Given the description of an element on the screen output the (x, y) to click on. 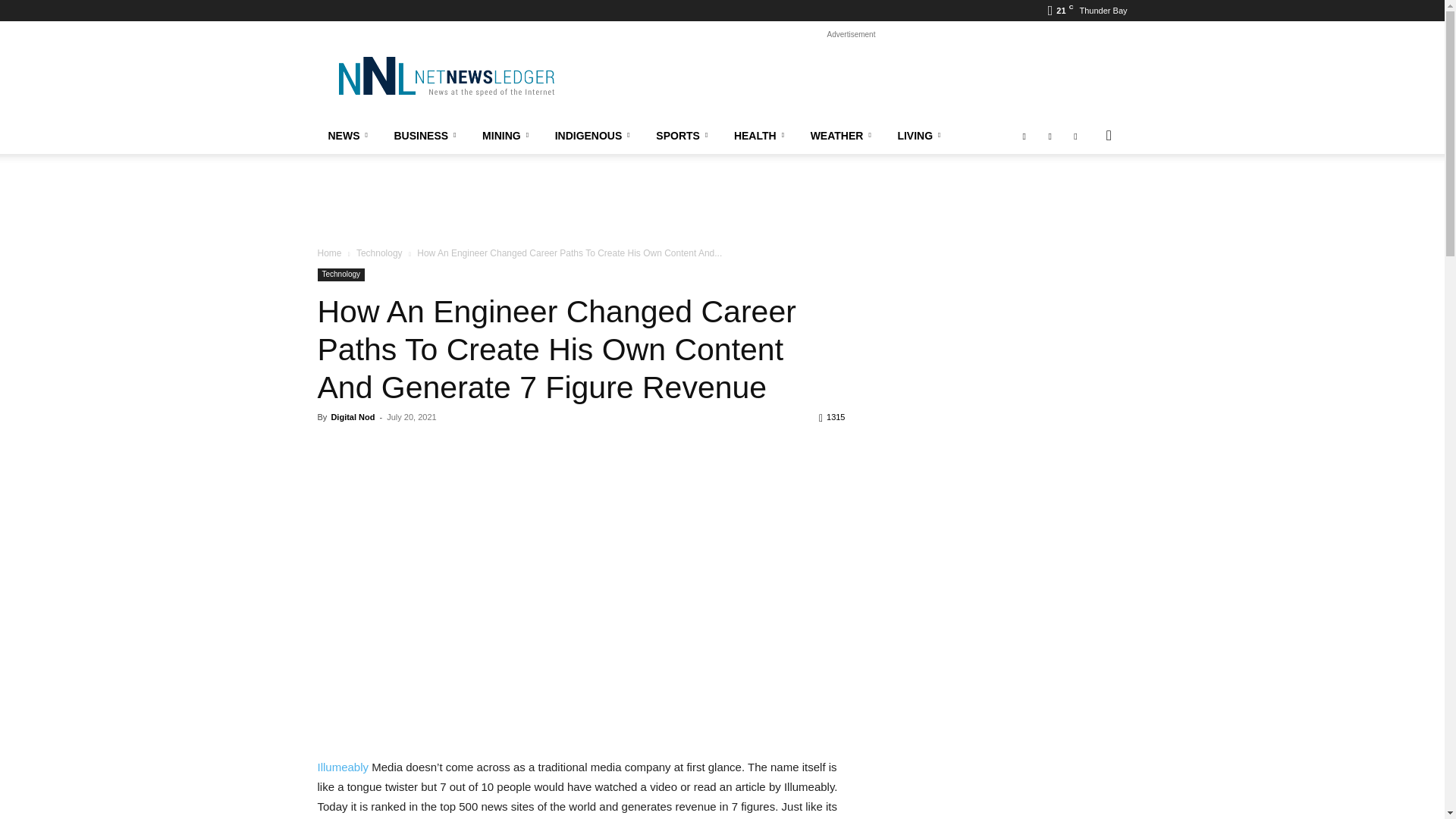
View all posts in Technology (379, 253)
NetNewsLedger (445, 76)
